Given the description of an element on the screen output the (x, y) to click on. 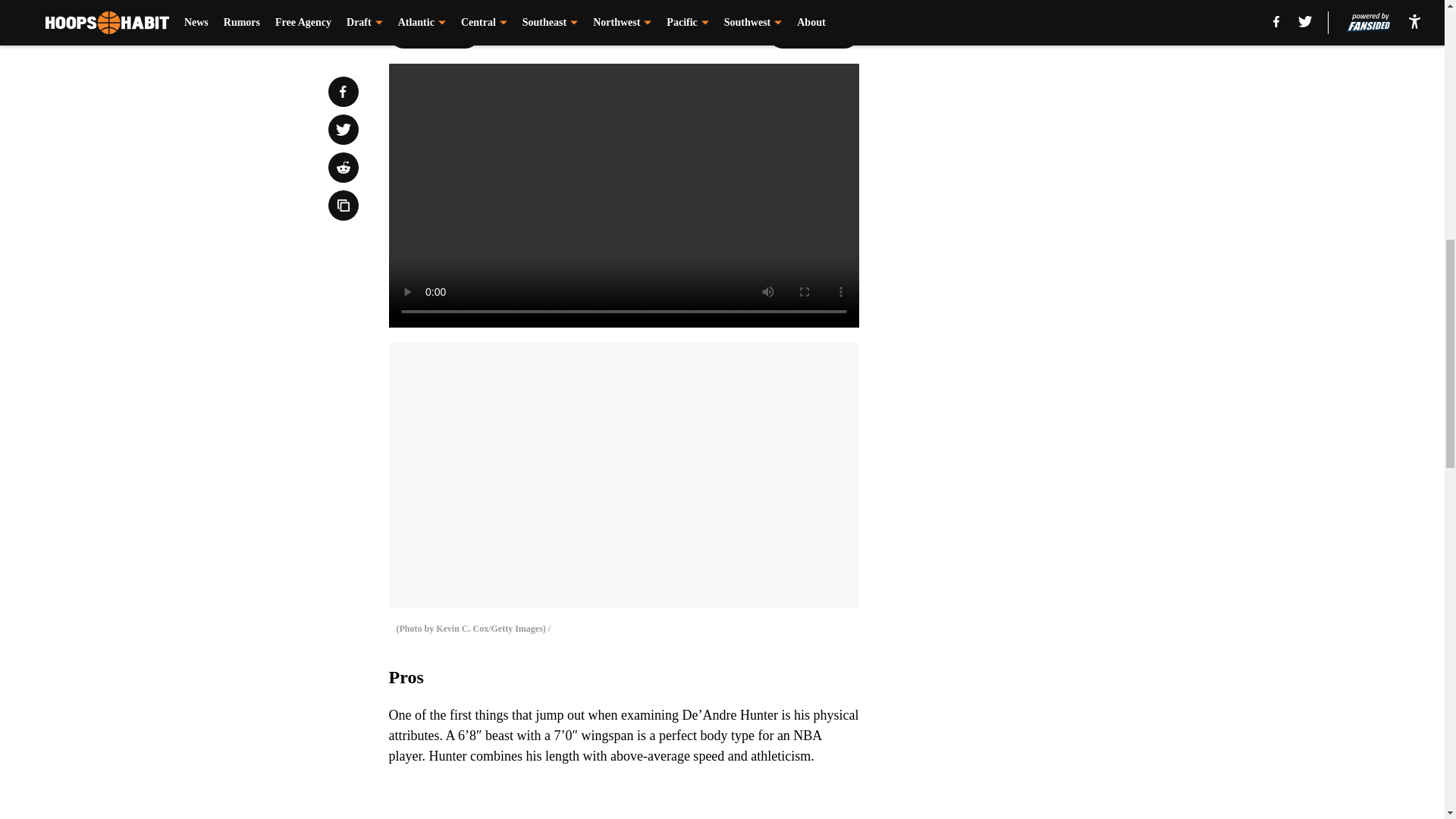
3rd party ad content (1047, 113)
3rd party ad content (1047, 332)
